Given the description of an element on the screen output the (x, y) to click on. 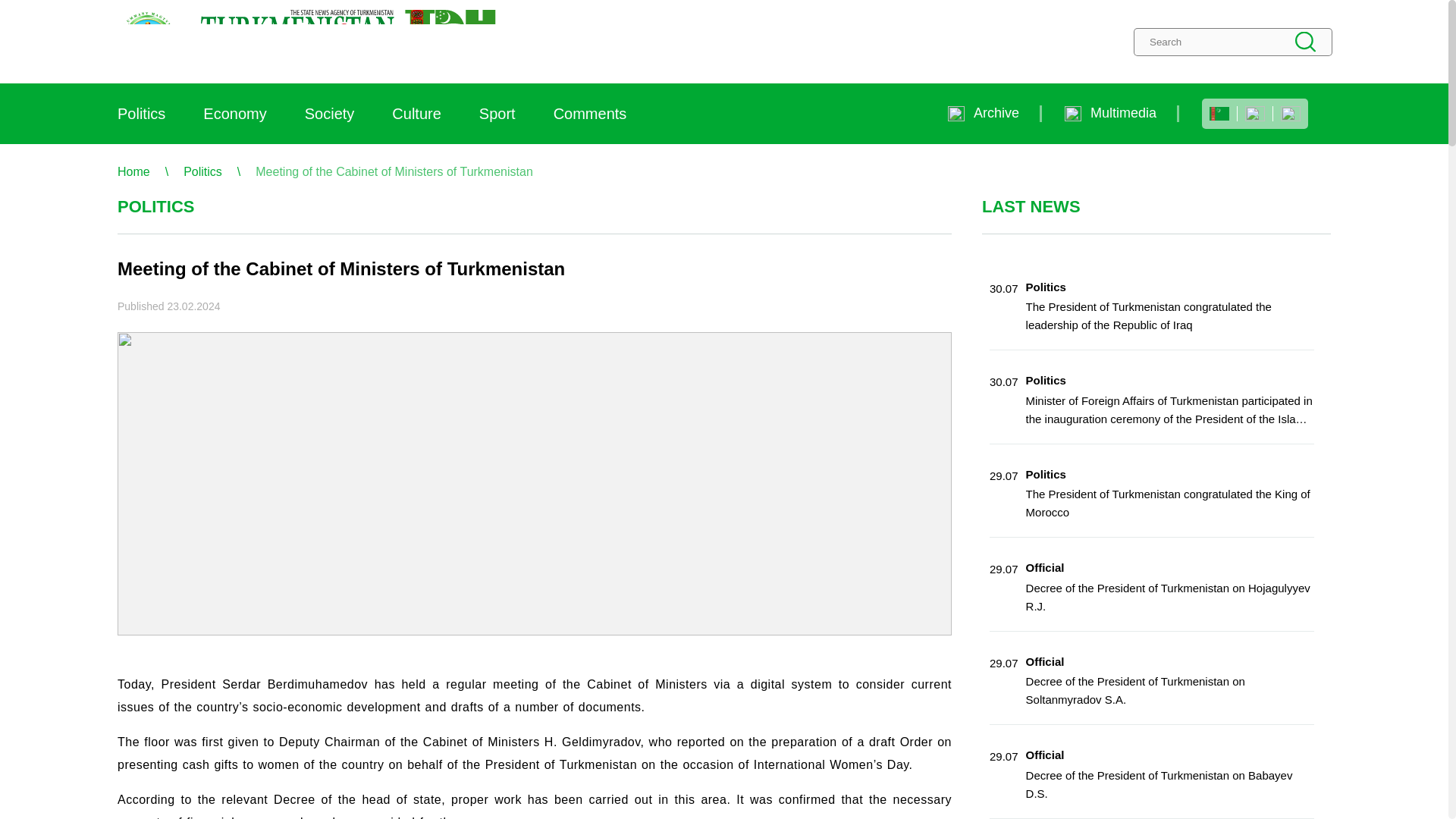
Home (133, 171)
Politics (1045, 379)
Official (1045, 754)
Official (1045, 567)
Comments (590, 113)
Politics (141, 113)
Archive (983, 113)
Culture (416, 113)
Politics (1045, 473)
Society (329, 113)
Politics (1045, 286)
Official (1045, 661)
Sport (497, 113)
Politics (202, 171)
Economy (234, 113)
